Given the description of an element on the screen output the (x, y) to click on. 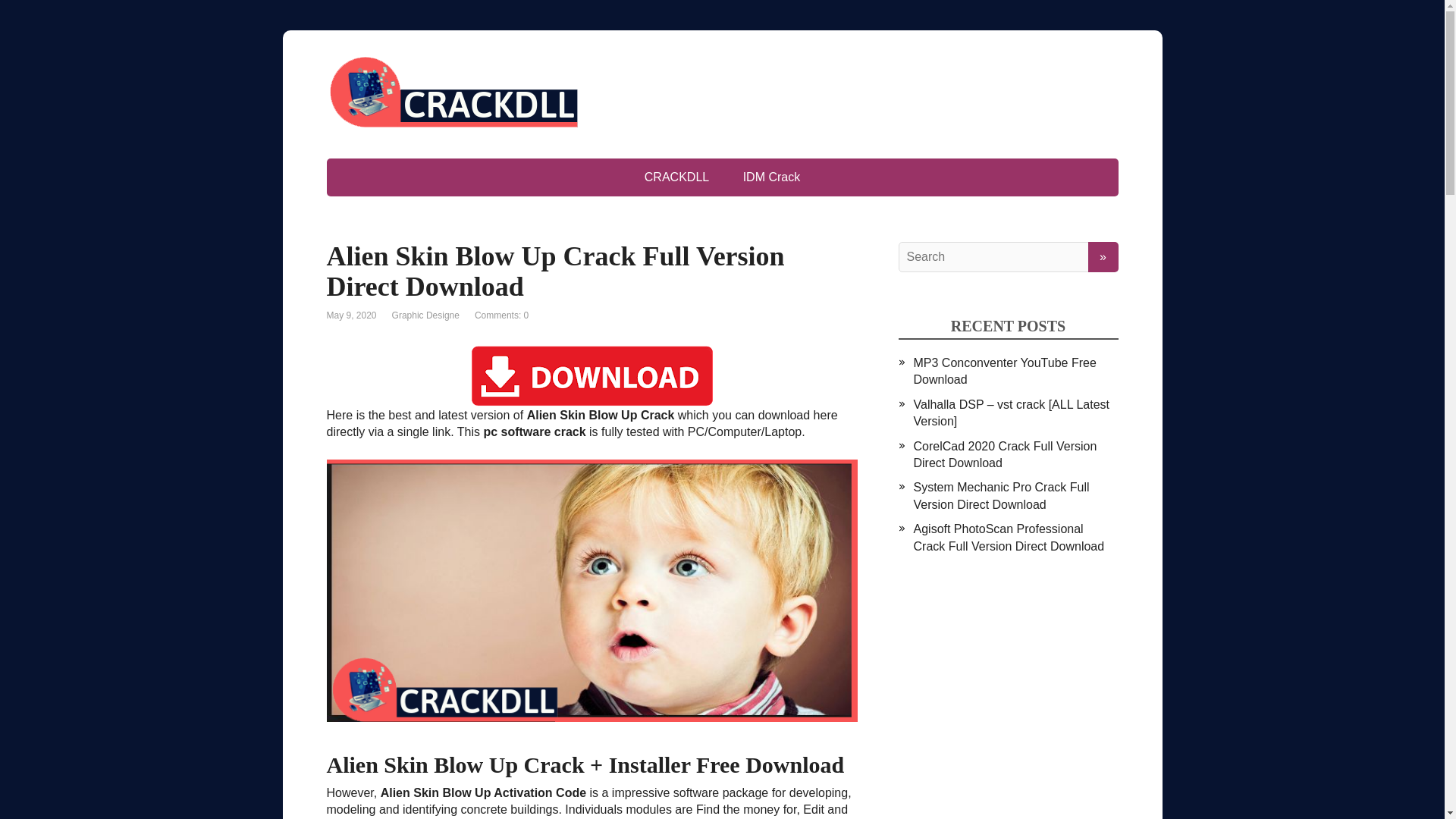
IDM Crack (771, 177)
CorelCad 2020 Crack Full Version Direct Download (1004, 454)
CRACKDLL (675, 177)
MP3 Conconventer YouTube Free Download (1004, 370)
System Mechanic Pro Crack Full Version Direct Download (1000, 495)
Graphic Designe (425, 315)
Comments: 0 (501, 315)
